Given the description of an element on the screen output the (x, y) to click on. 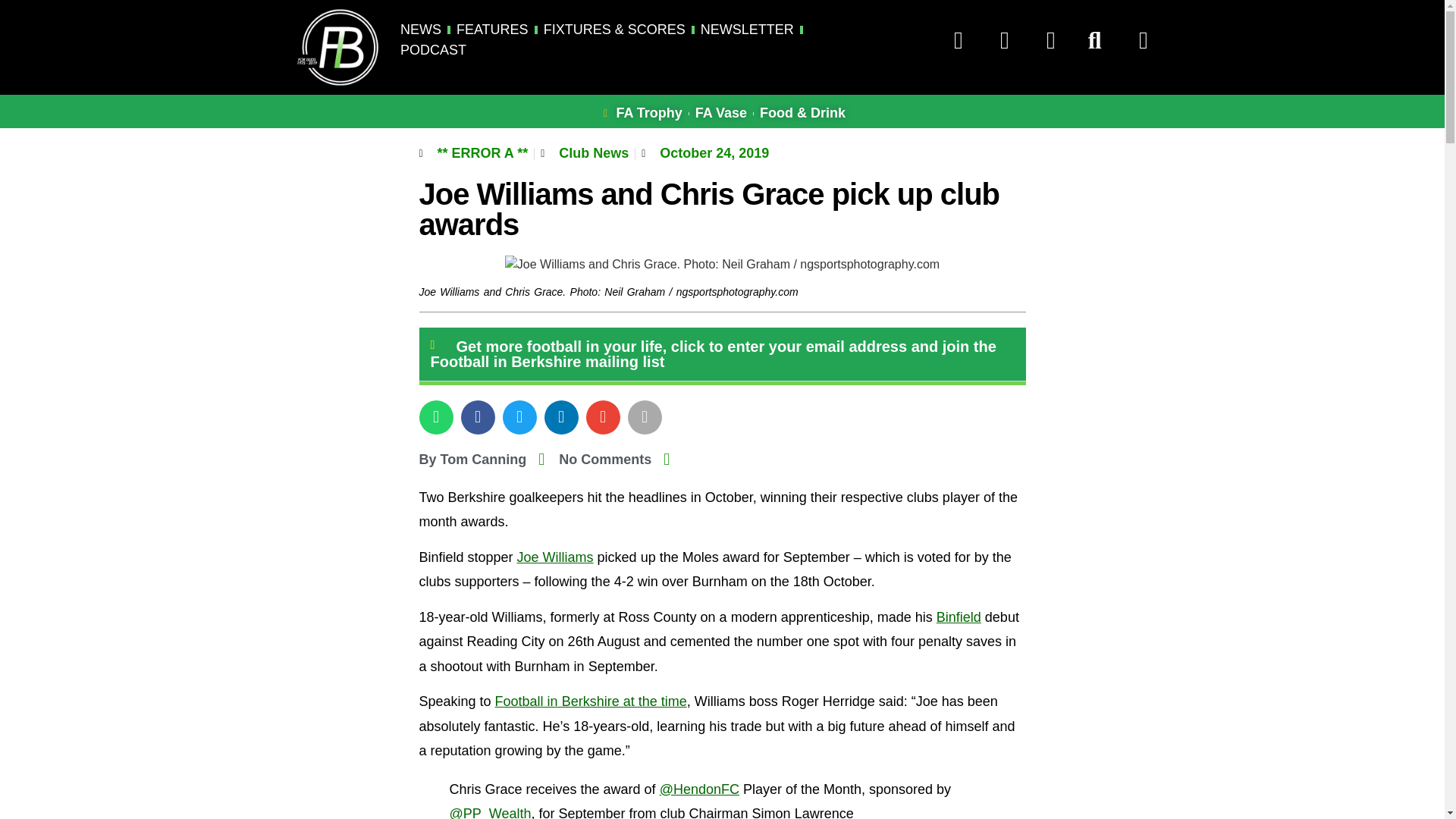
FEATURES (492, 29)
Binfield (958, 616)
FA Vase (720, 113)
Club News (593, 152)
NEWS (420, 29)
Joe-Williams-and-Chris-Grace (722, 264)
No Comments (594, 459)
By Tom Canning (472, 459)
FA Trophy (640, 113)
